Given the description of an element on the screen output the (x, y) to click on. 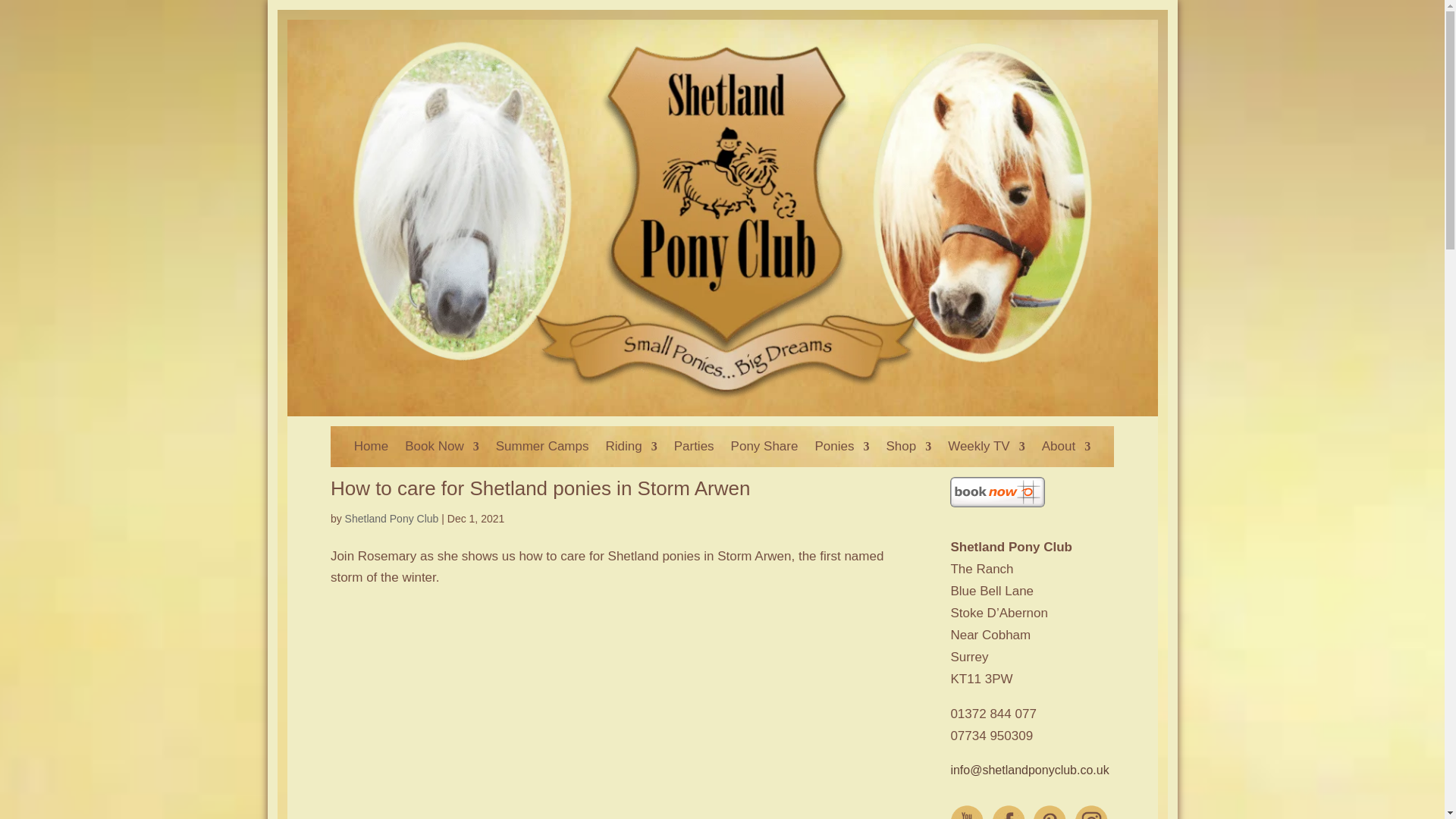
Shop (908, 449)
Pony Parties (694, 449)
Book Now (441, 449)
Posts by Shetland Pony Club (392, 518)
Home (370, 449)
Ponies (841, 449)
Riding (630, 449)
Summer Camps (542, 449)
Weekly TV (986, 449)
